Given the description of an element on the screen output the (x, y) to click on. 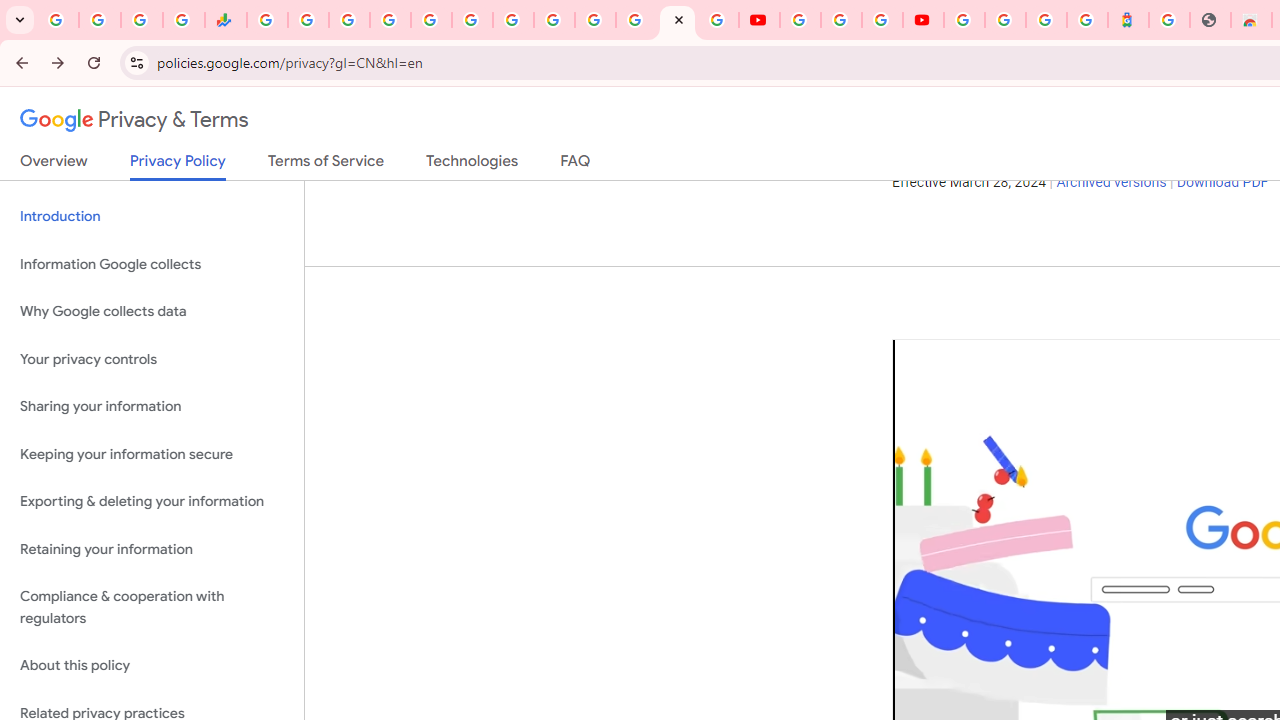
Sign in - Google Accounts (1005, 20)
Information Google collects (152, 263)
Archived versions (1111, 183)
Atour Hotel - Google hotels (1128, 20)
Exporting & deleting your information (152, 502)
